Given the description of an element on the screen output the (x, y) to click on. 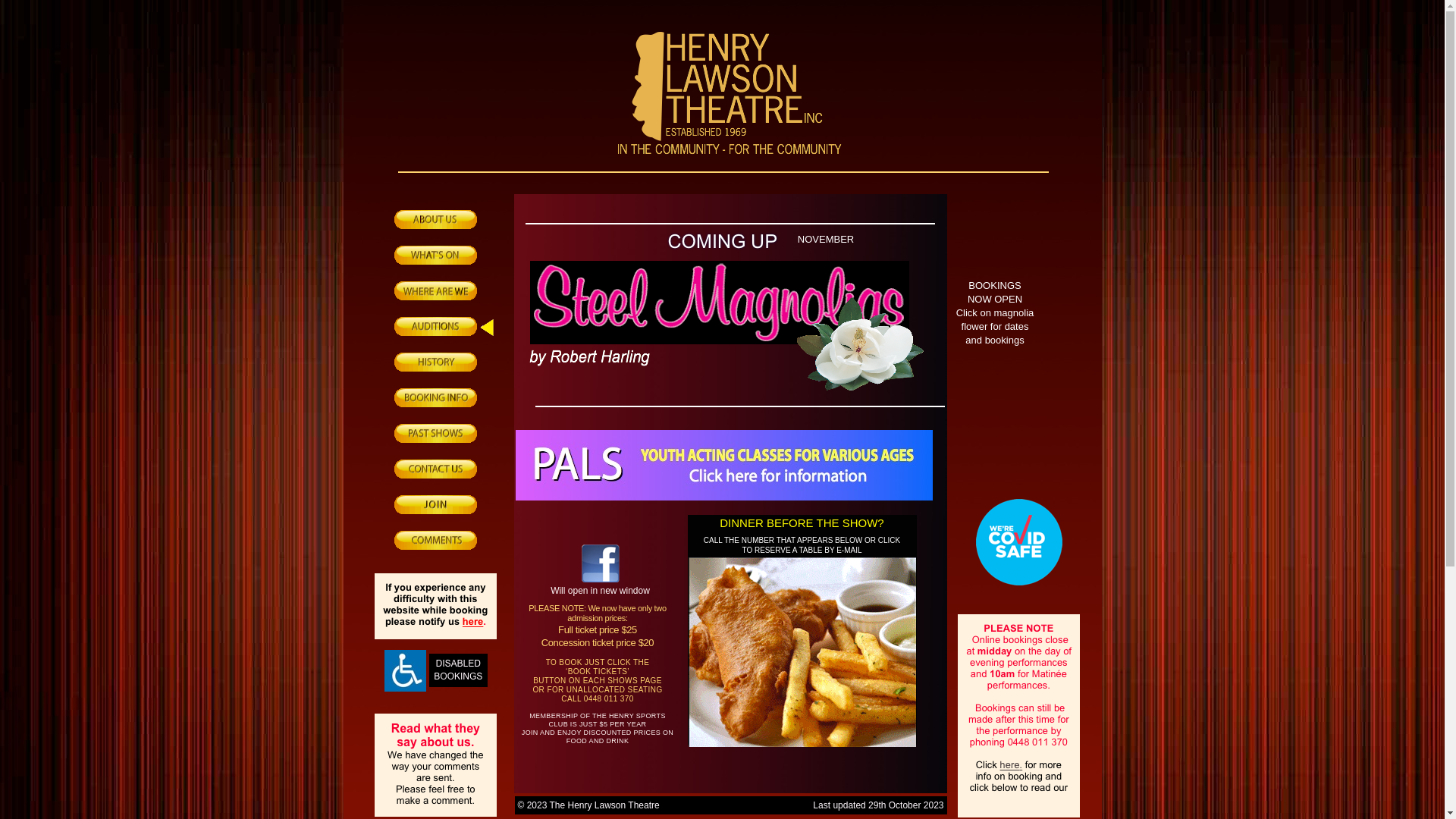
https://www.facebook.com/henrylawsontheatre/ Element type: hover (599, 577)
STEEL_MAGNOLIAS_2023.html Element type: hover (859, 385)
DISABED_BOOKINGS.html Element type: hover (404, 686)
PALS_PAGE.html Element type: hover (723, 495)
